Given the description of an element on the screen output the (x, y) to click on. 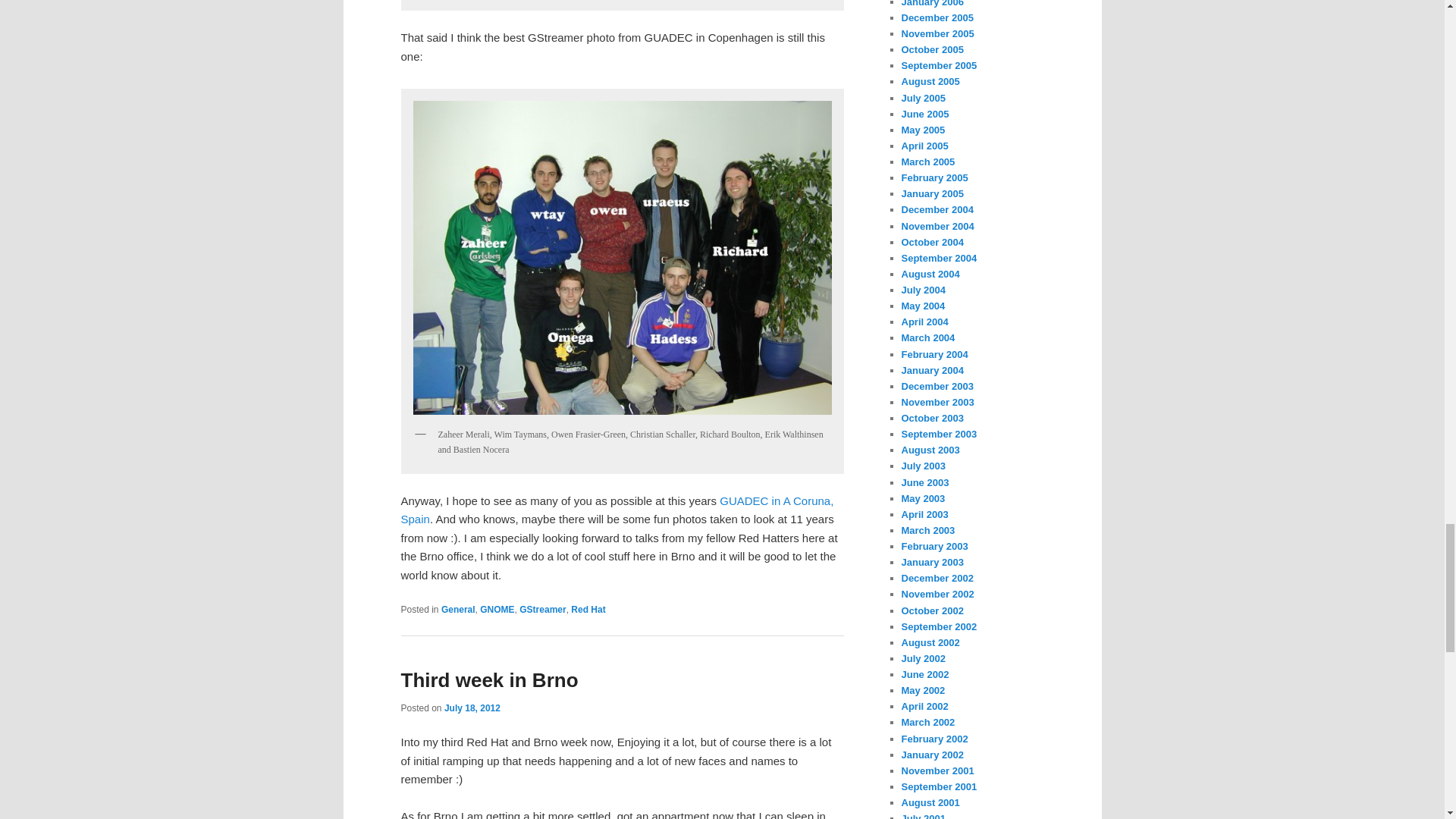
16:09 (472, 707)
